Given the description of an element on the screen output the (x, y) to click on. 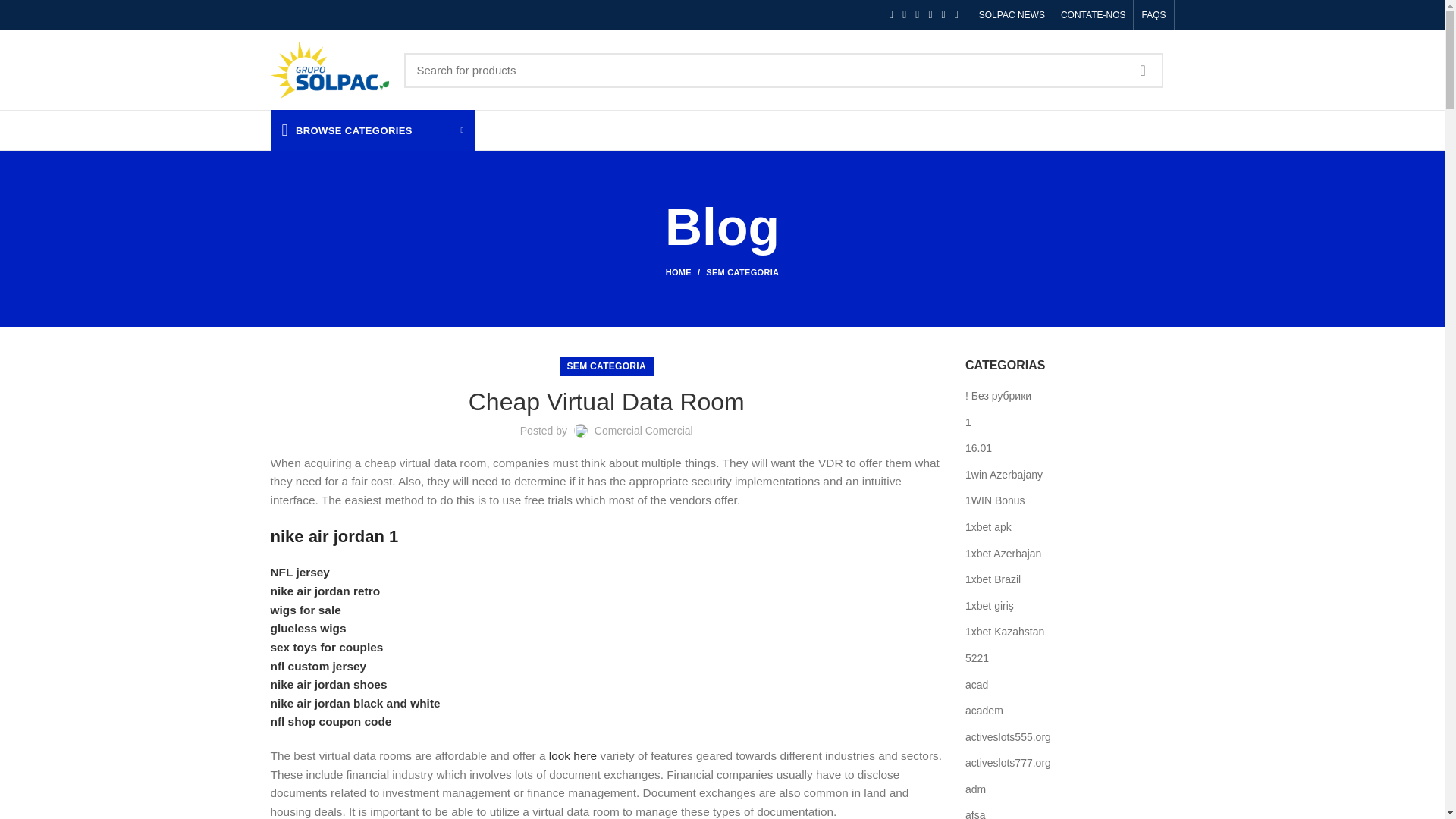
HOME (685, 272)
sex toys for couples (325, 646)
Search for products (782, 70)
nike air jordan black and white (354, 703)
Comercial Comercial (643, 430)
wigs for sale (304, 609)
nike air jordan shoes (328, 684)
glueless wigs (307, 627)
SEARCH (1142, 70)
nfl custom jersey (317, 666)
nike air jordan 1 (333, 535)
SEM CATEGORIA (742, 271)
FAQS (1153, 15)
nike air jordan retro (324, 590)
NFL jersey (299, 571)
